Given the description of an element on the screen output the (x, y) to click on. 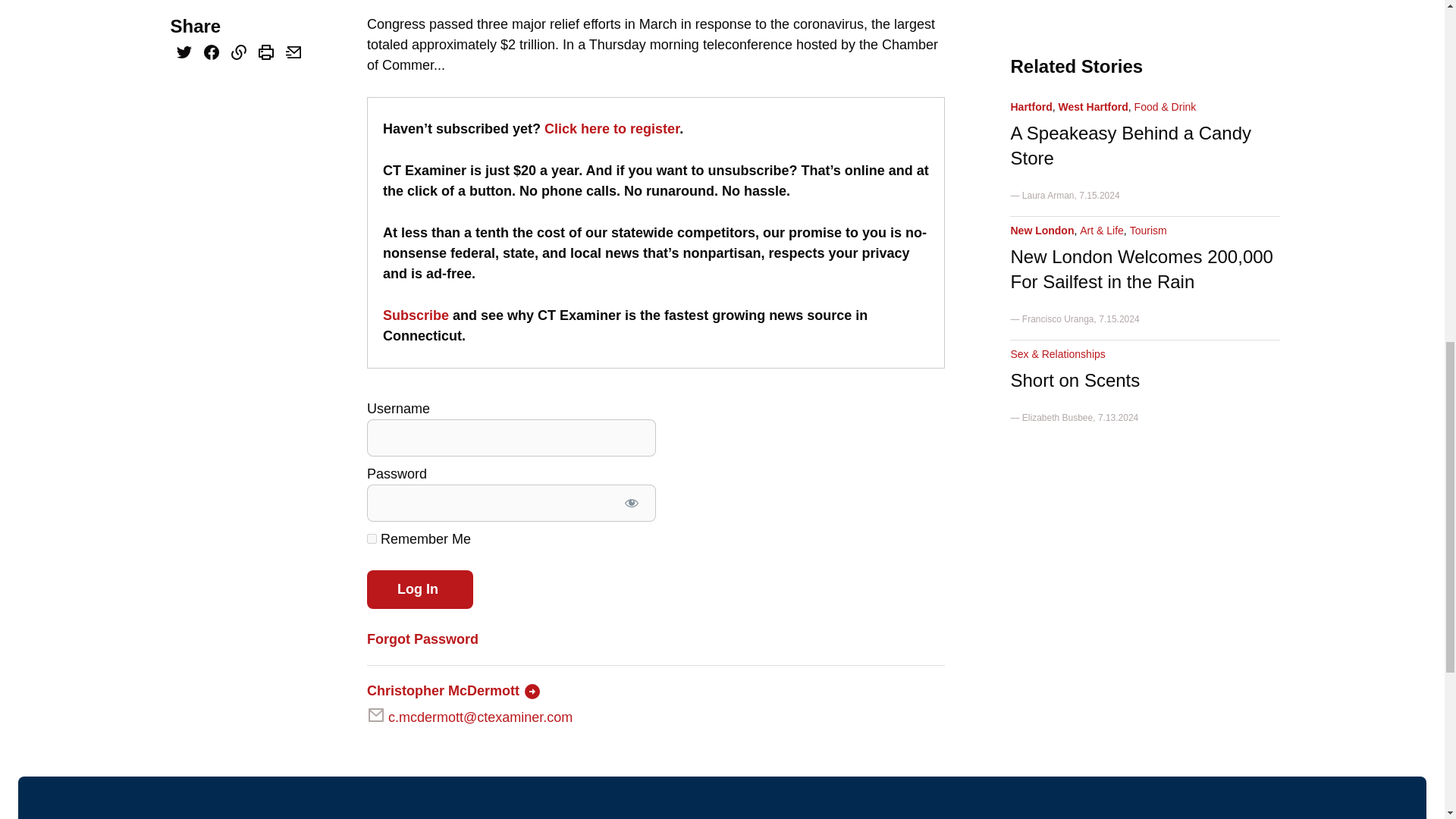
Twitter (183, 53)
forever (371, 538)
Click here to register (611, 128)
Email (292, 53)
Log In (419, 589)
